Given the description of an element on the screen output the (x, y) to click on. 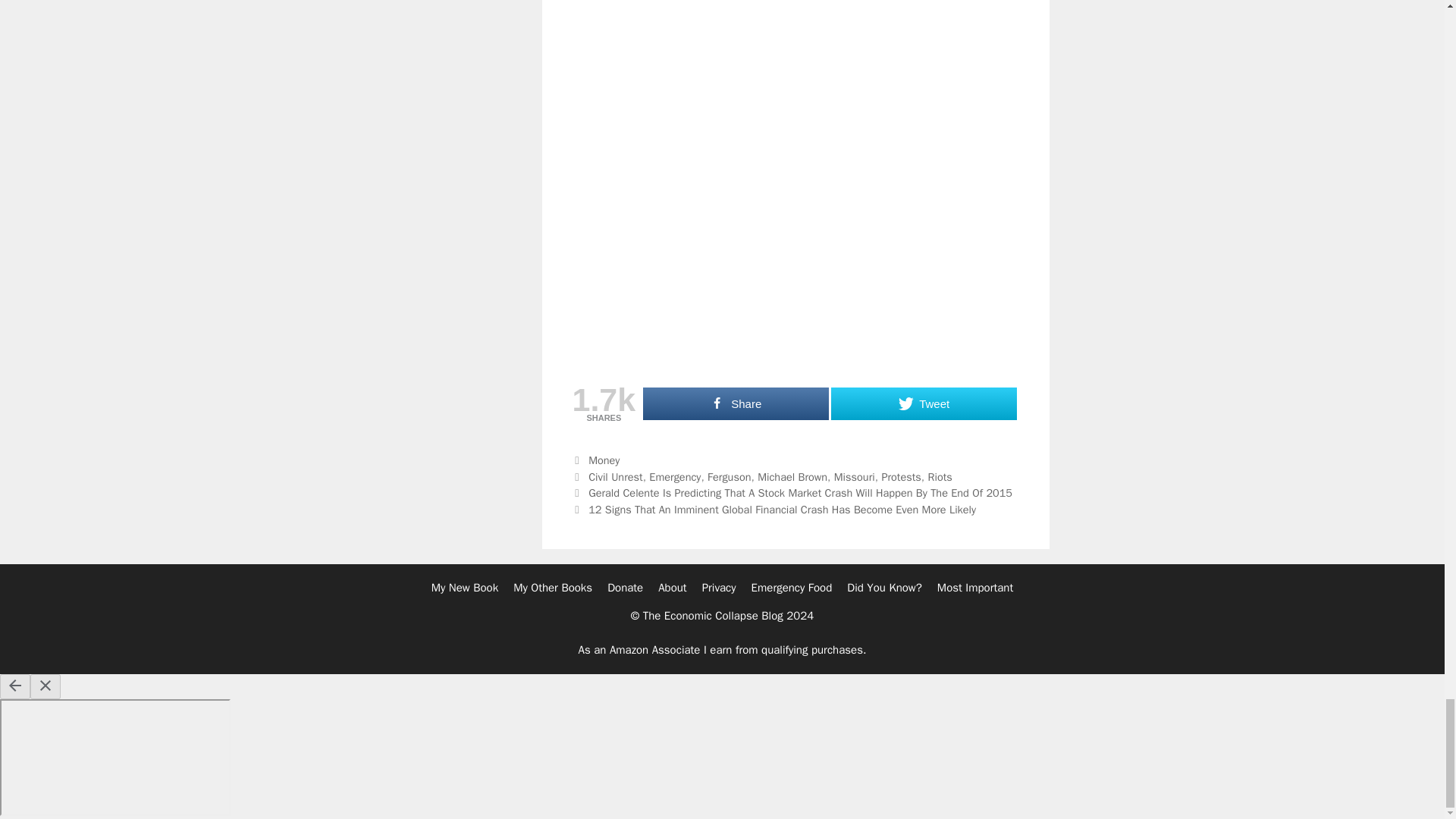
Money (604, 459)
Tweet (923, 403)
Share (735, 403)
Missouri (854, 477)
Protests (900, 477)
Civil Unrest (615, 477)
Riots (940, 477)
Emergency (674, 477)
Michael Brown (792, 477)
Ferguson (729, 477)
